Given the description of an element on the screen output the (x, y) to click on. 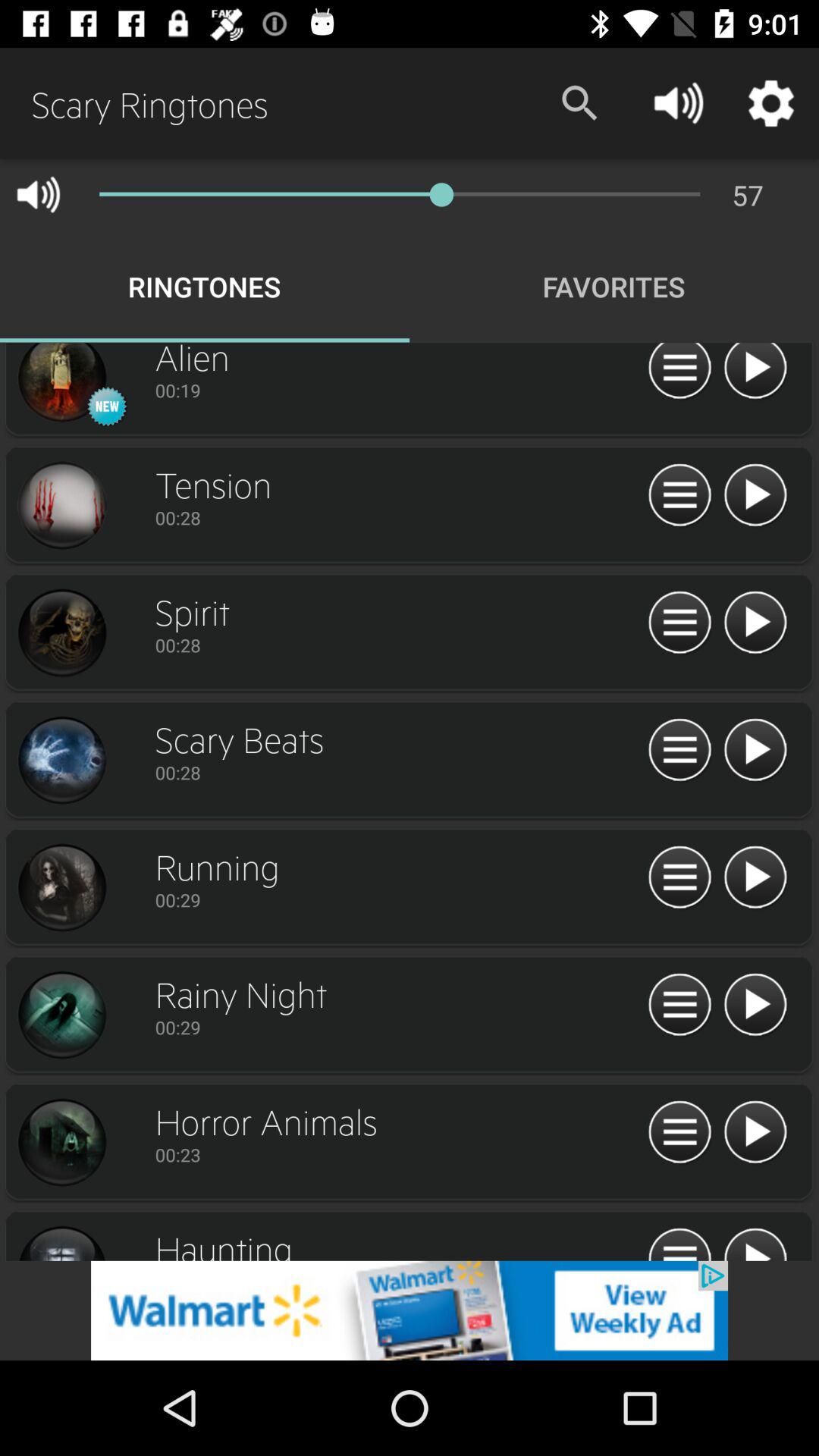
see the menu (679, 1242)
